Given the description of an element on the screen output the (x, y) to click on. 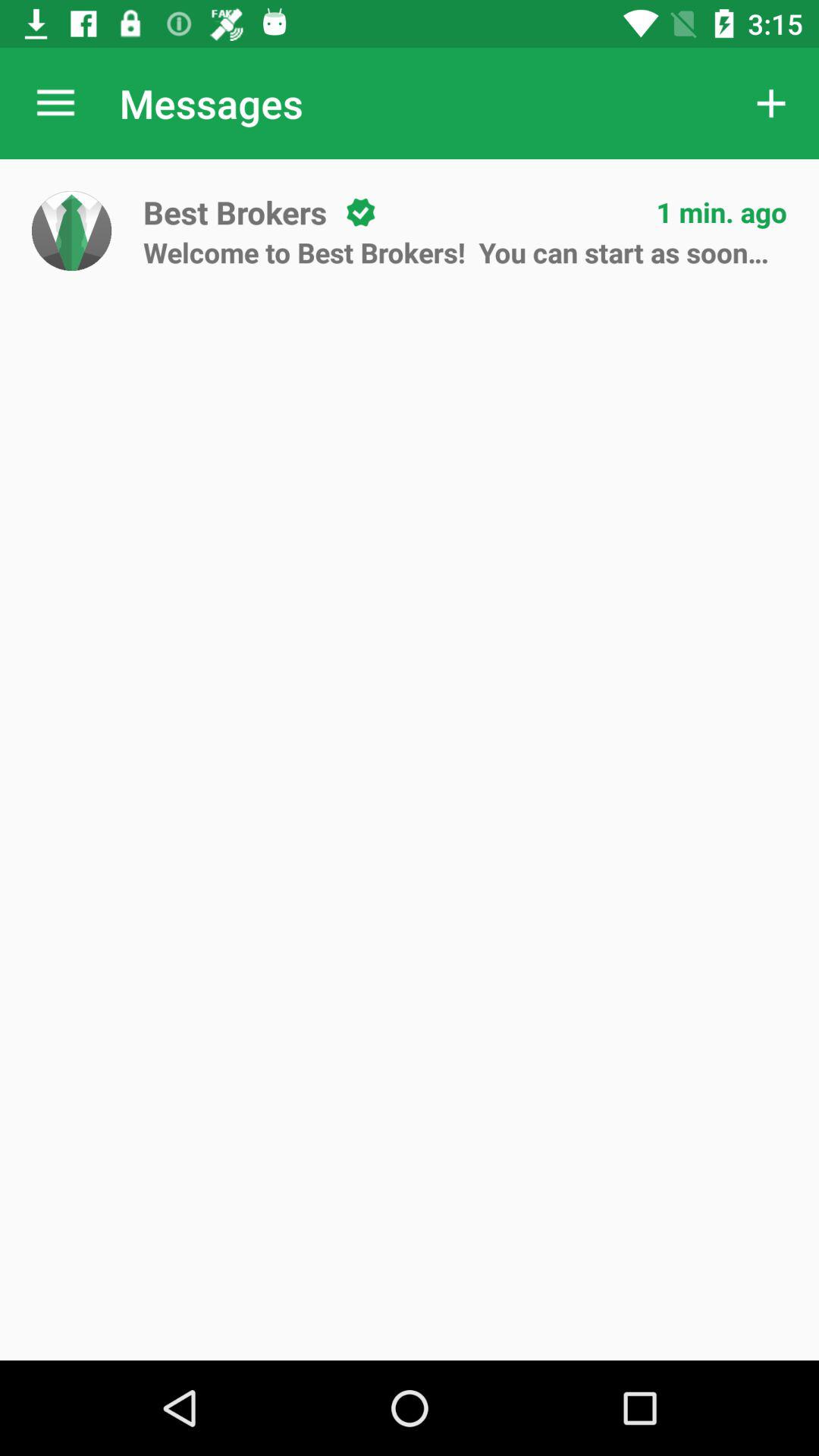
turn off the app to the right of messages item (771, 103)
